Given the description of an element on the screen output the (x, y) to click on. 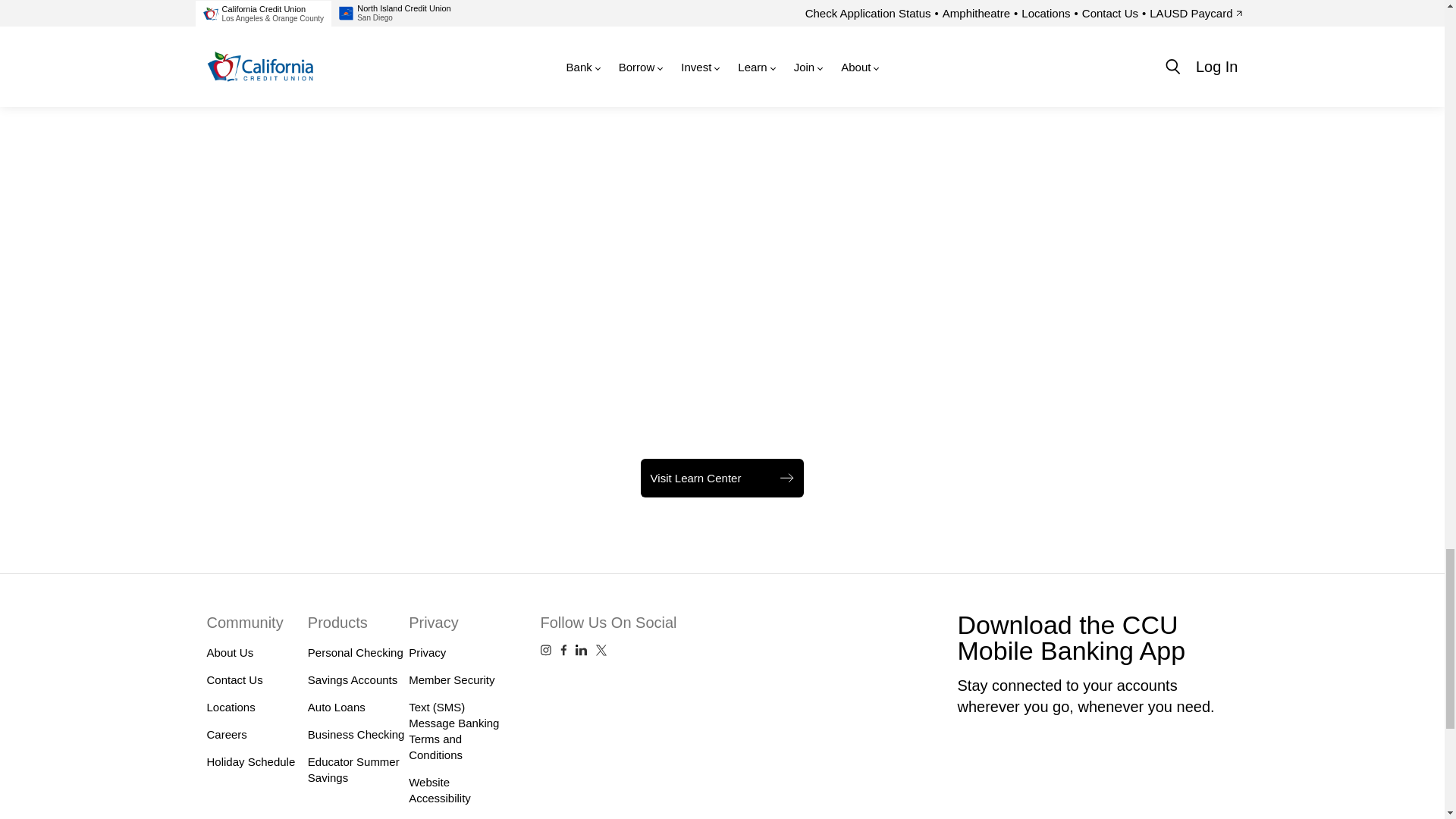
Visit Learn Center (722, 477)
